Given the description of an element on the screen output the (x, y) to click on. 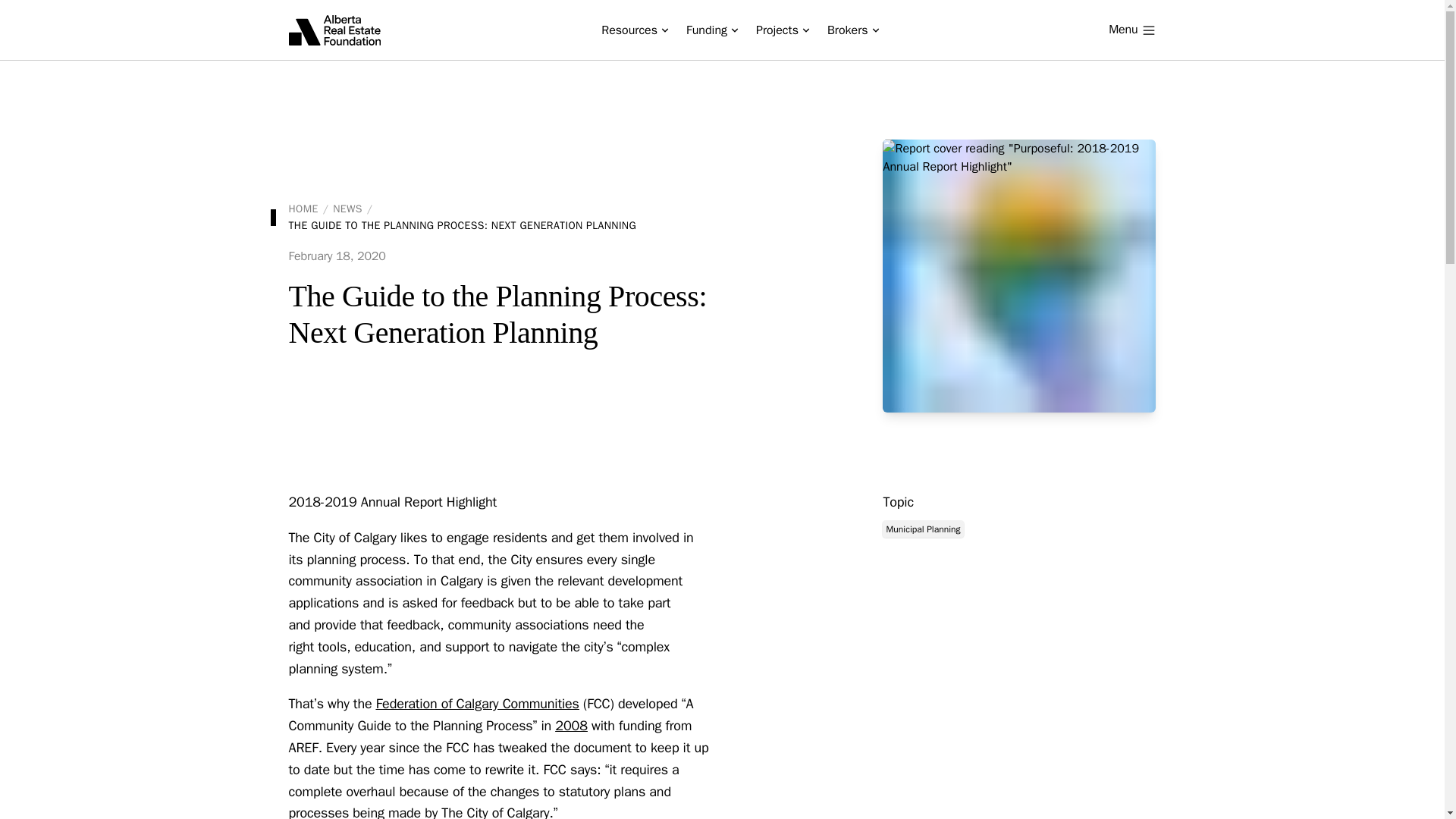
Brokers (853, 30)
Resources (634, 30)
Menu (1131, 30)
2008 (570, 725)
Funding (711, 30)
NEWS (347, 208)
Federation of Calgary Communities (477, 703)
Projects (782, 30)
Municipal Planning (922, 528)
HOME (302, 208)
